Given the description of an element on the screen output the (x, y) to click on. 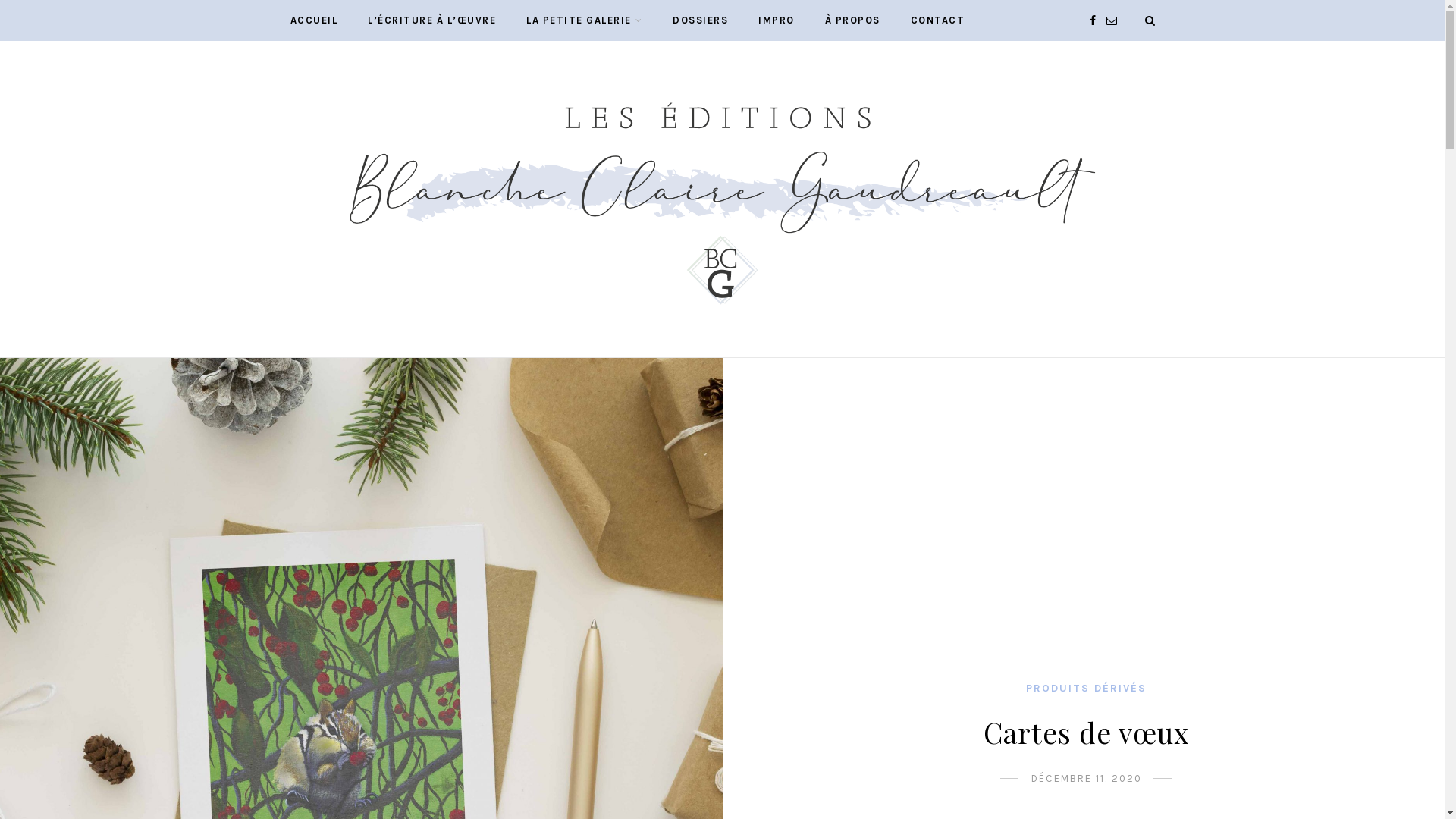
IMPRO Element type: text (776, 20)
CONTACT Element type: text (937, 20)
LA PETITE GALERIE Element type: text (584, 20)
DOSSIERS Element type: text (700, 20)
ACCUEIL Element type: text (313, 20)
